Given the description of an element on the screen output the (x, y) to click on. 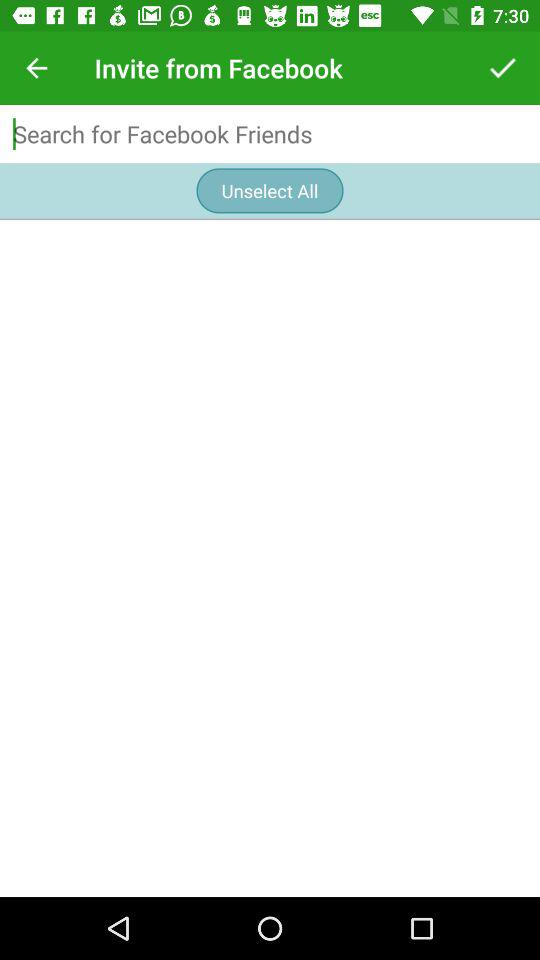
tap the icon next to invite from facebook item (36, 68)
